Given the description of an element on the screen output the (x, y) to click on. 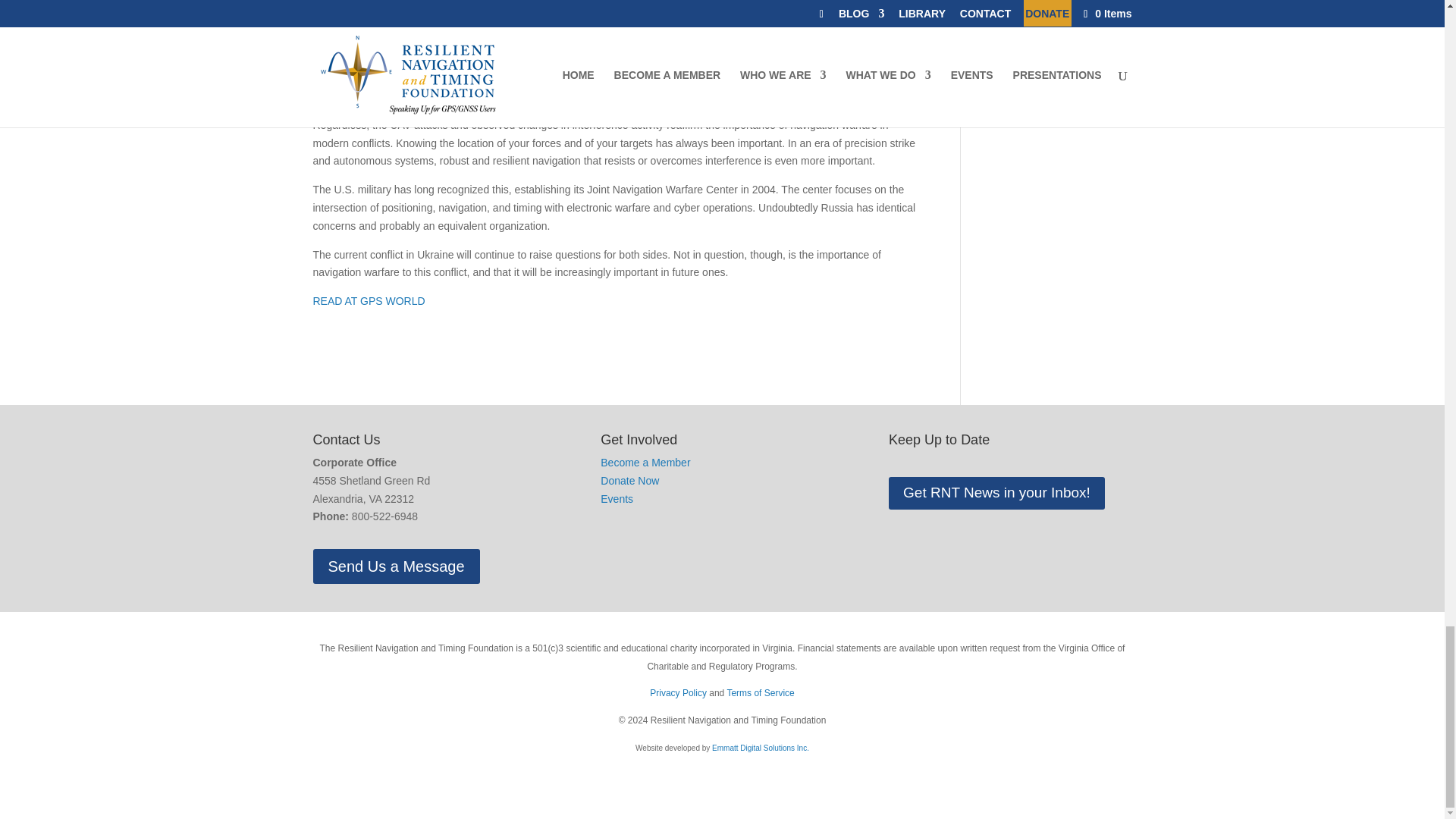
READ AT GPS WORLD (369, 300)
